Given the description of an element on the screen output the (x, y) to click on. 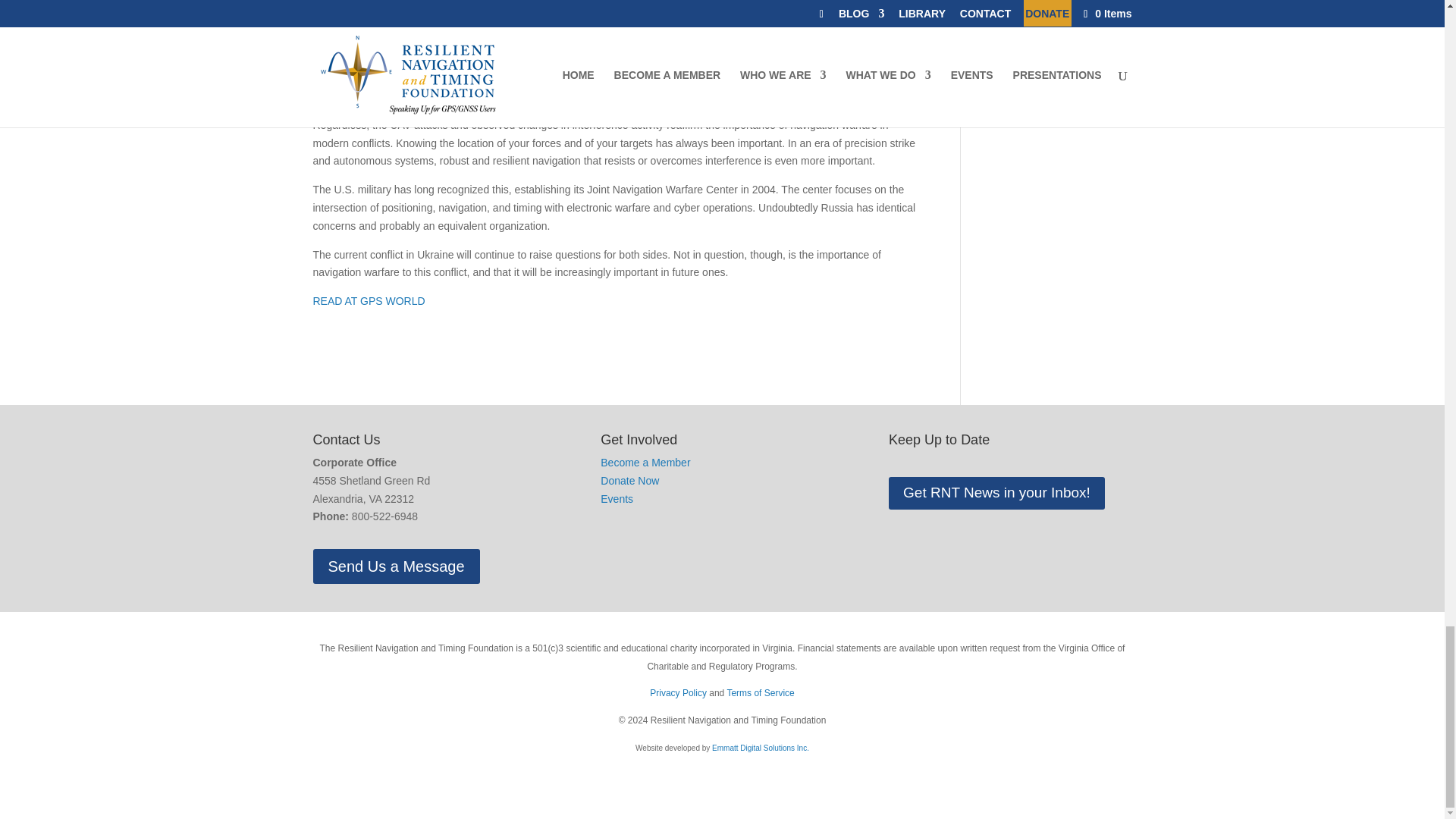
READ AT GPS WORLD (369, 300)
